Given the description of an element on the screen output the (x, y) to click on. 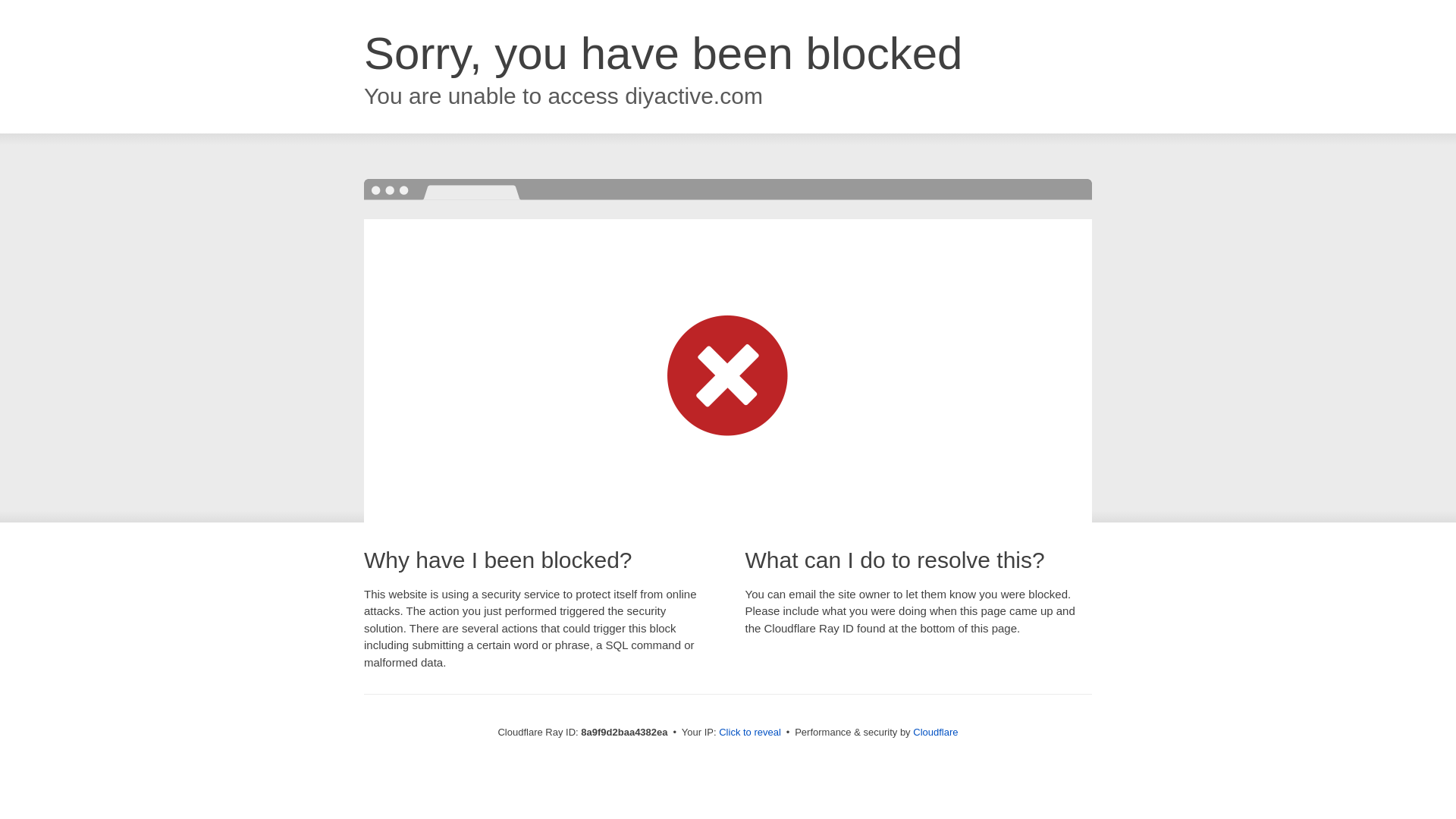
Cloudflare (935, 731)
Click to reveal (749, 732)
